Given the description of an element on the screen output the (x, y) to click on. 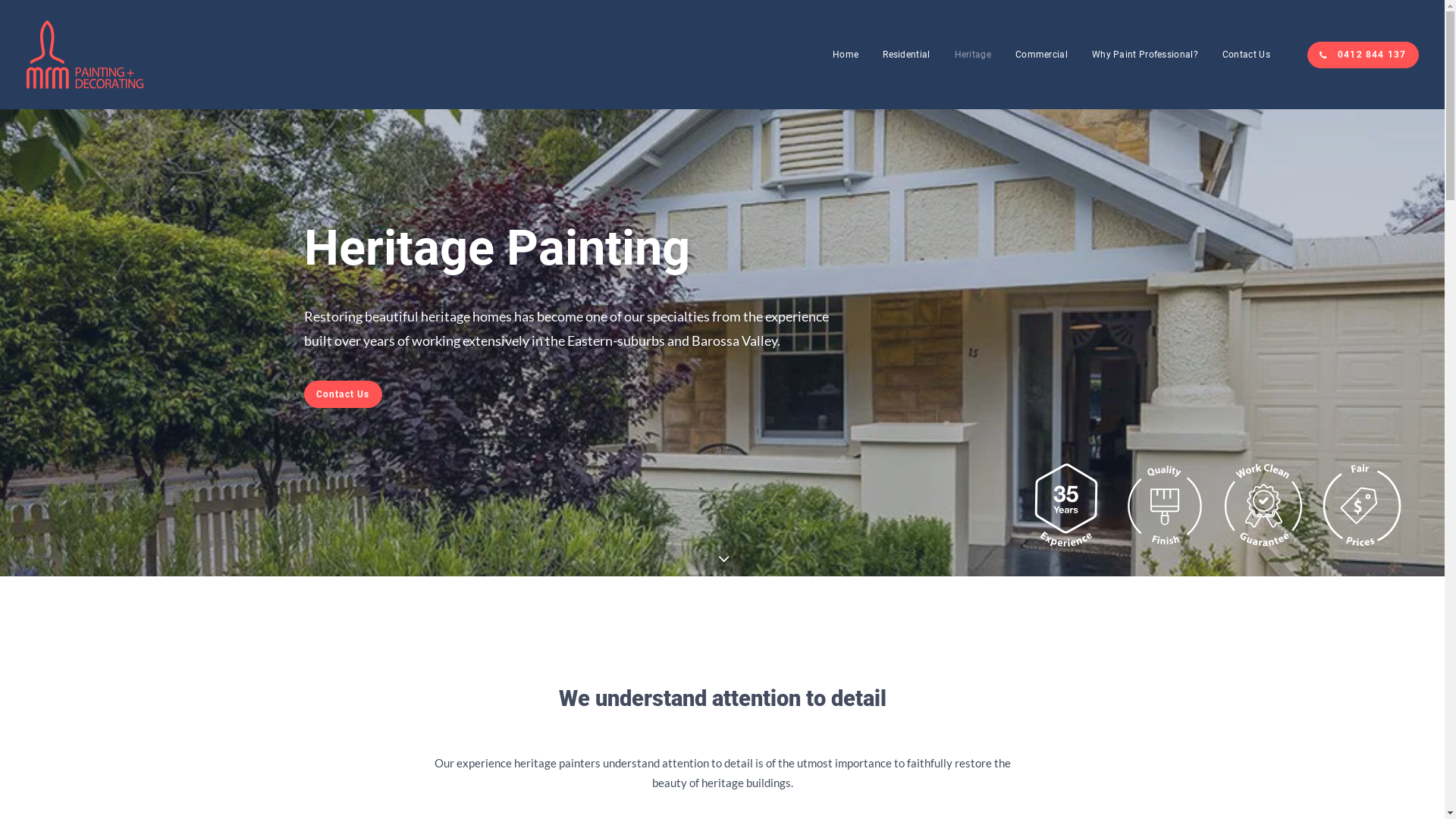
Contact Us Element type: text (342, 393)
0412 844 137 Element type: text (1362, 53)
Residential Element type: text (906, 54)
Heritage Element type: text (972, 54)
Home Element type: text (845, 54)
Why Paint Professional? Element type: text (1144, 54)
Contact Us Element type: text (1240, 54)
Commercial Element type: text (1041, 54)
